Given the description of an element on the screen output the (x, y) to click on. 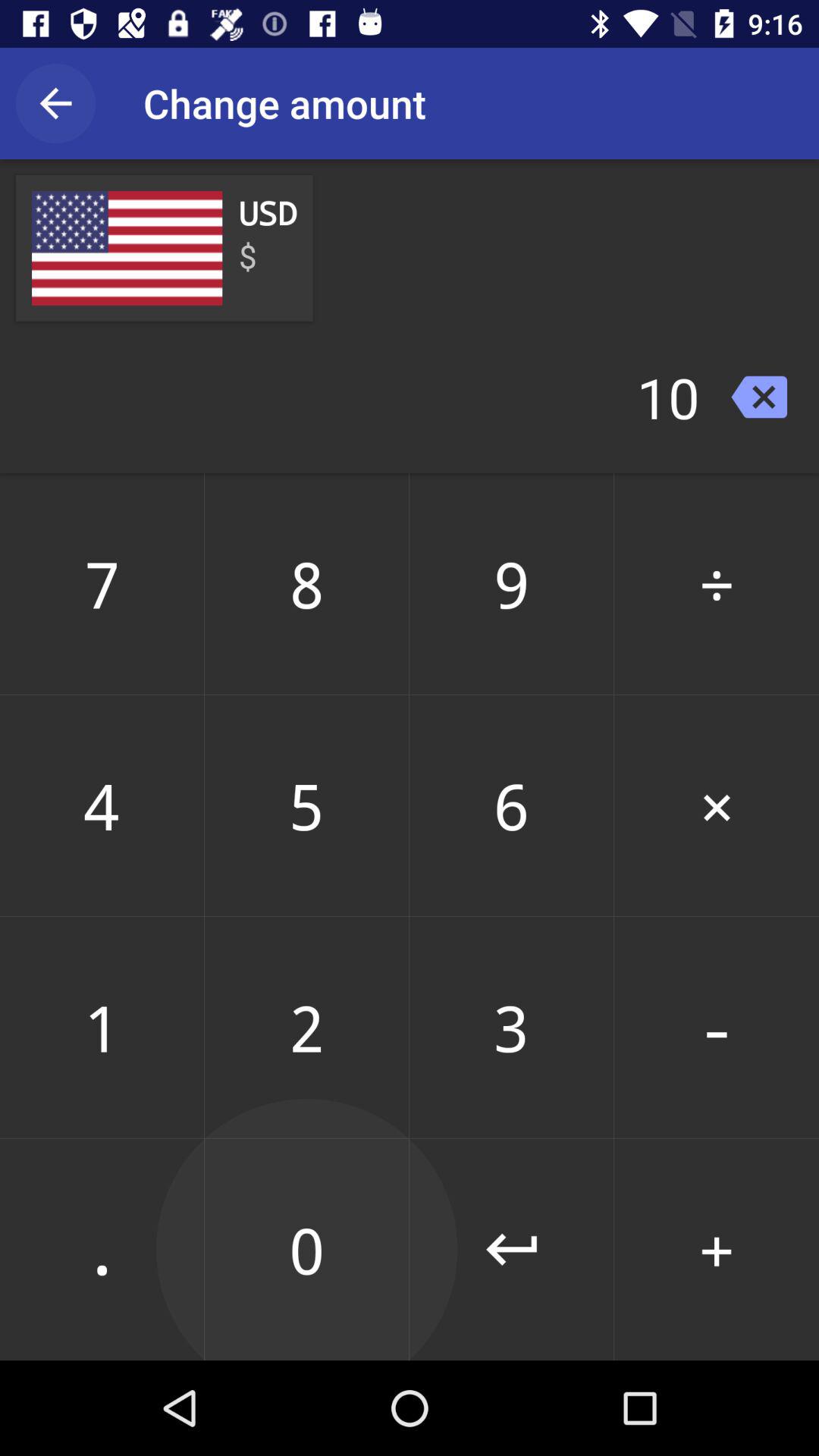
scroll to 1 (102, 1027)
